Given the description of an element on the screen output the (x, y) to click on. 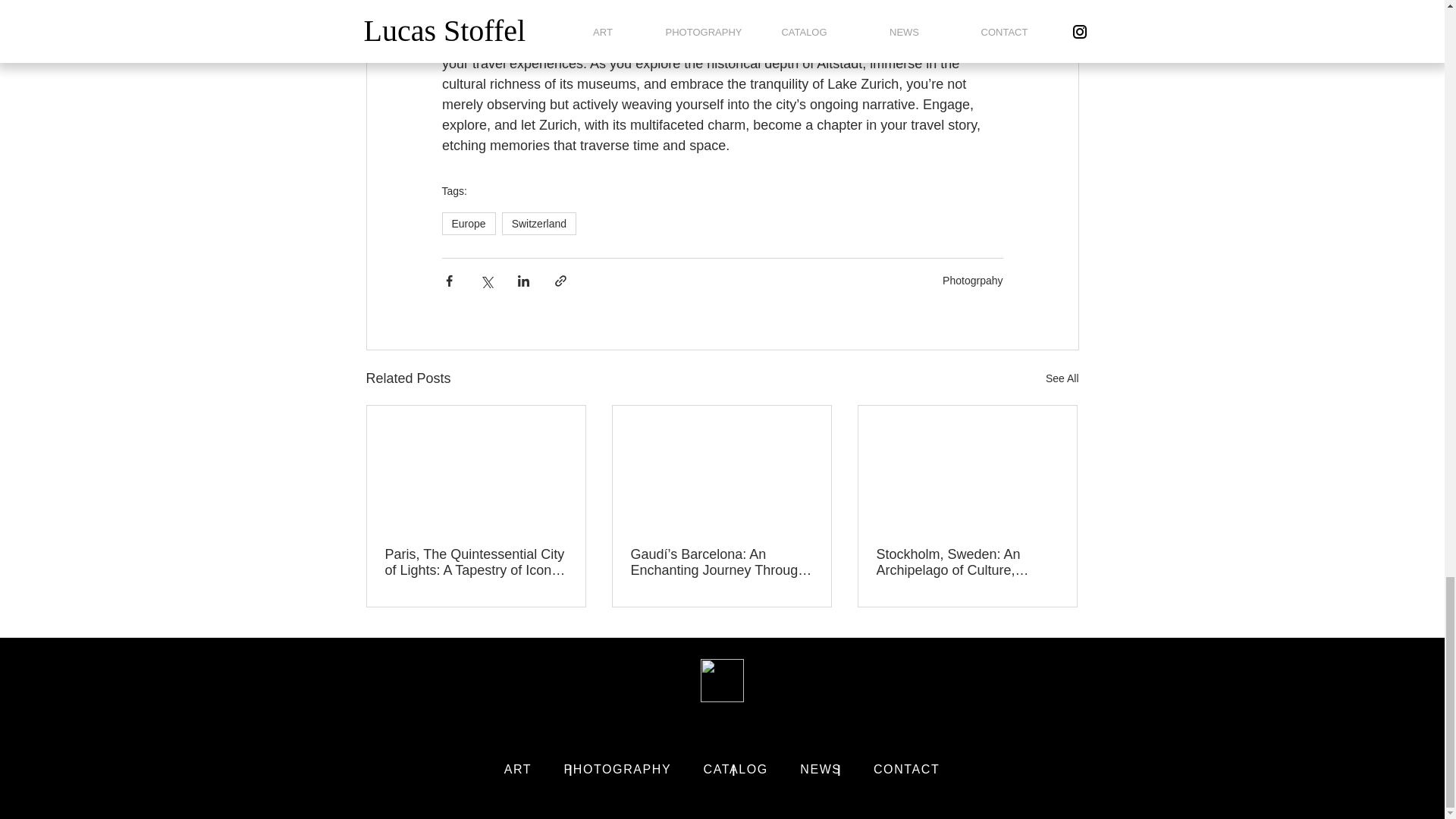
See All (1061, 378)
Switzerland (539, 223)
Photogrpahy (972, 280)
Europe (468, 223)
